Given the description of an element on the screen output the (x, y) to click on. 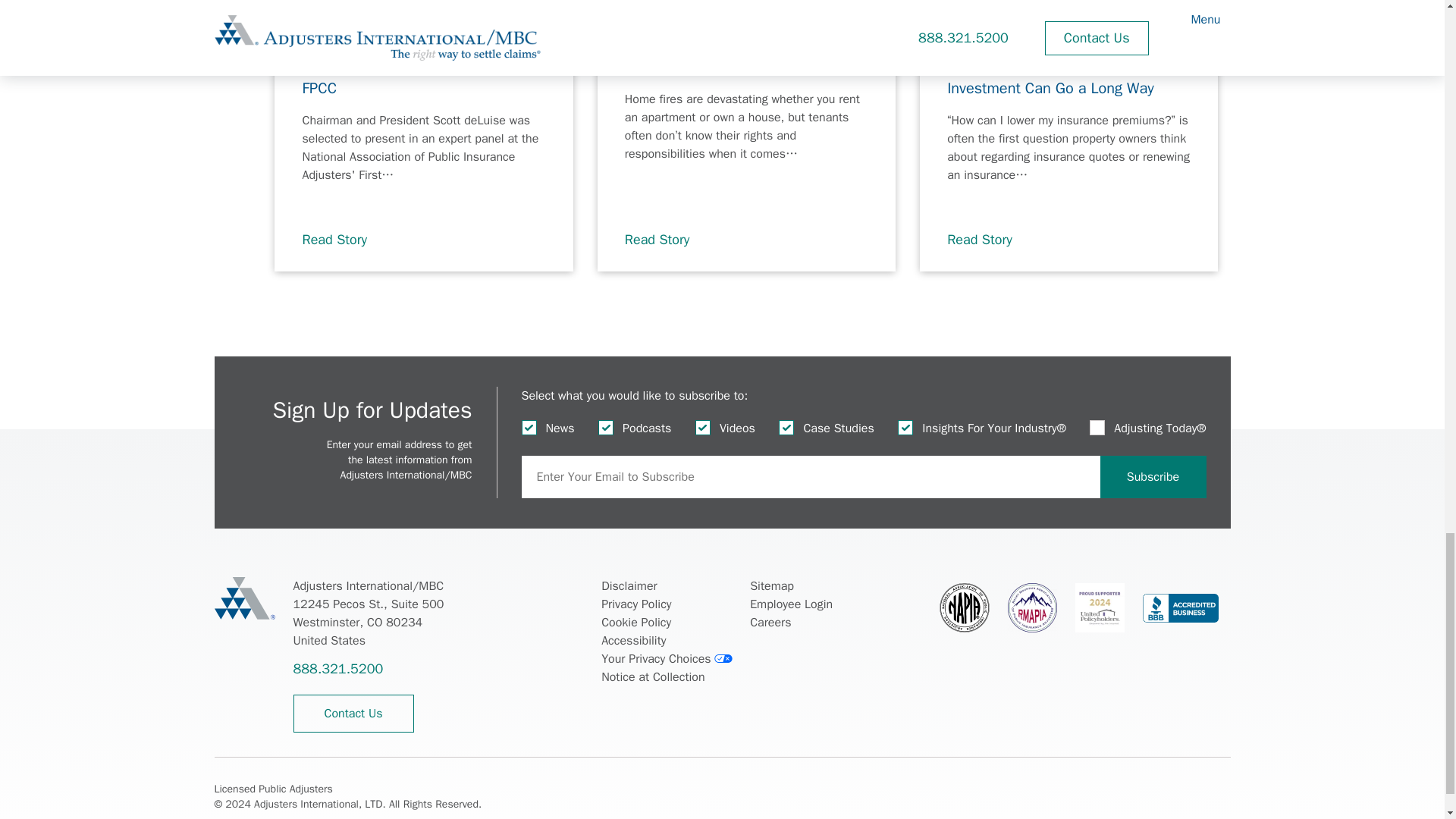
Read Story (342, 240)
Cookie Policy (636, 622)
Sitemap (771, 586)
Privacy Policy (636, 604)
Accessibility (633, 640)
Employee Login (790, 604)
Read Story (988, 240)
Careers (769, 622)
